Given the description of an element on the screen output the (x, y) to click on. 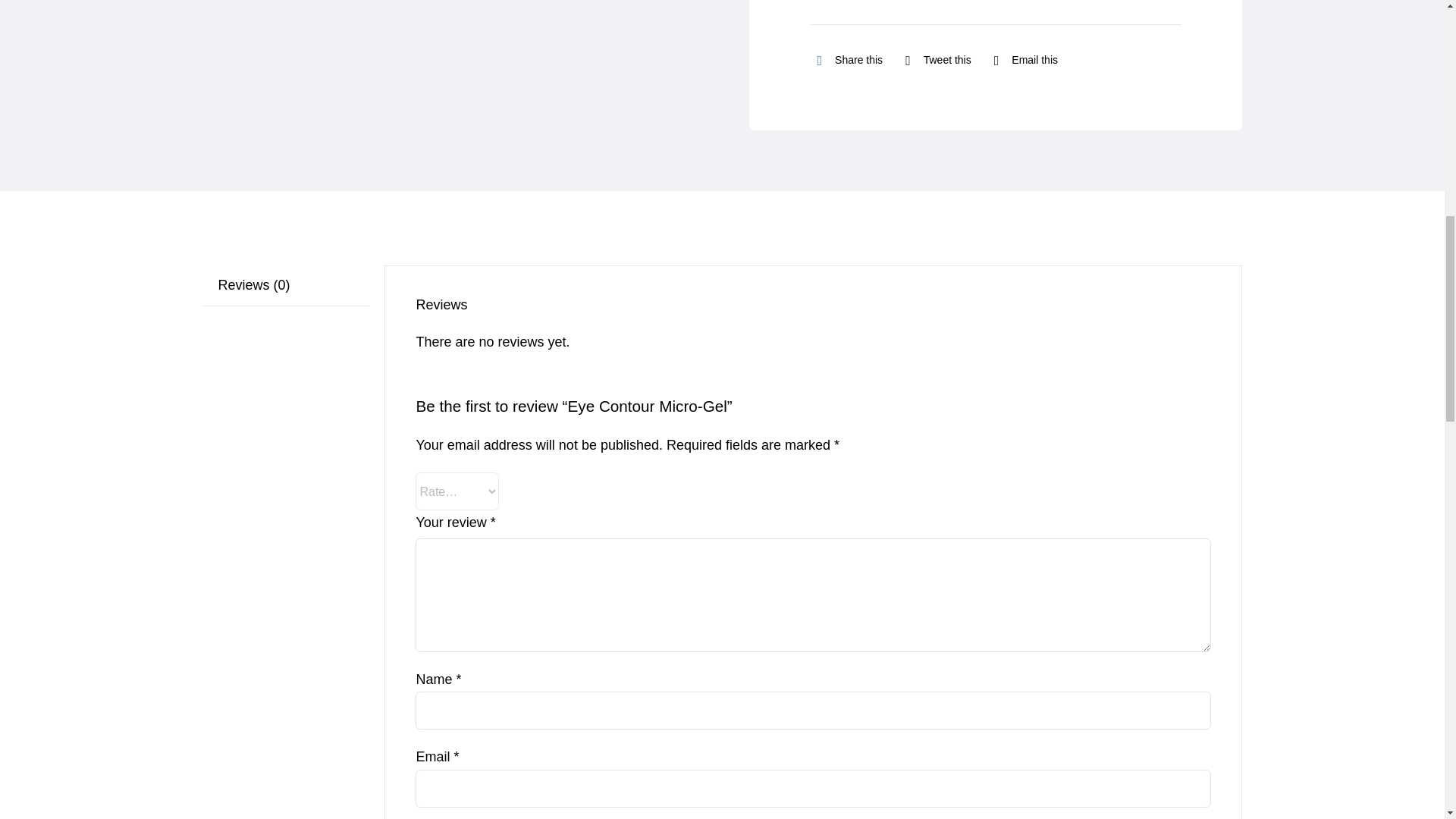
Email (1022, 60)
X (934, 60)
Facebook (846, 60)
